Given the description of an element on the screen output the (x, y) to click on. 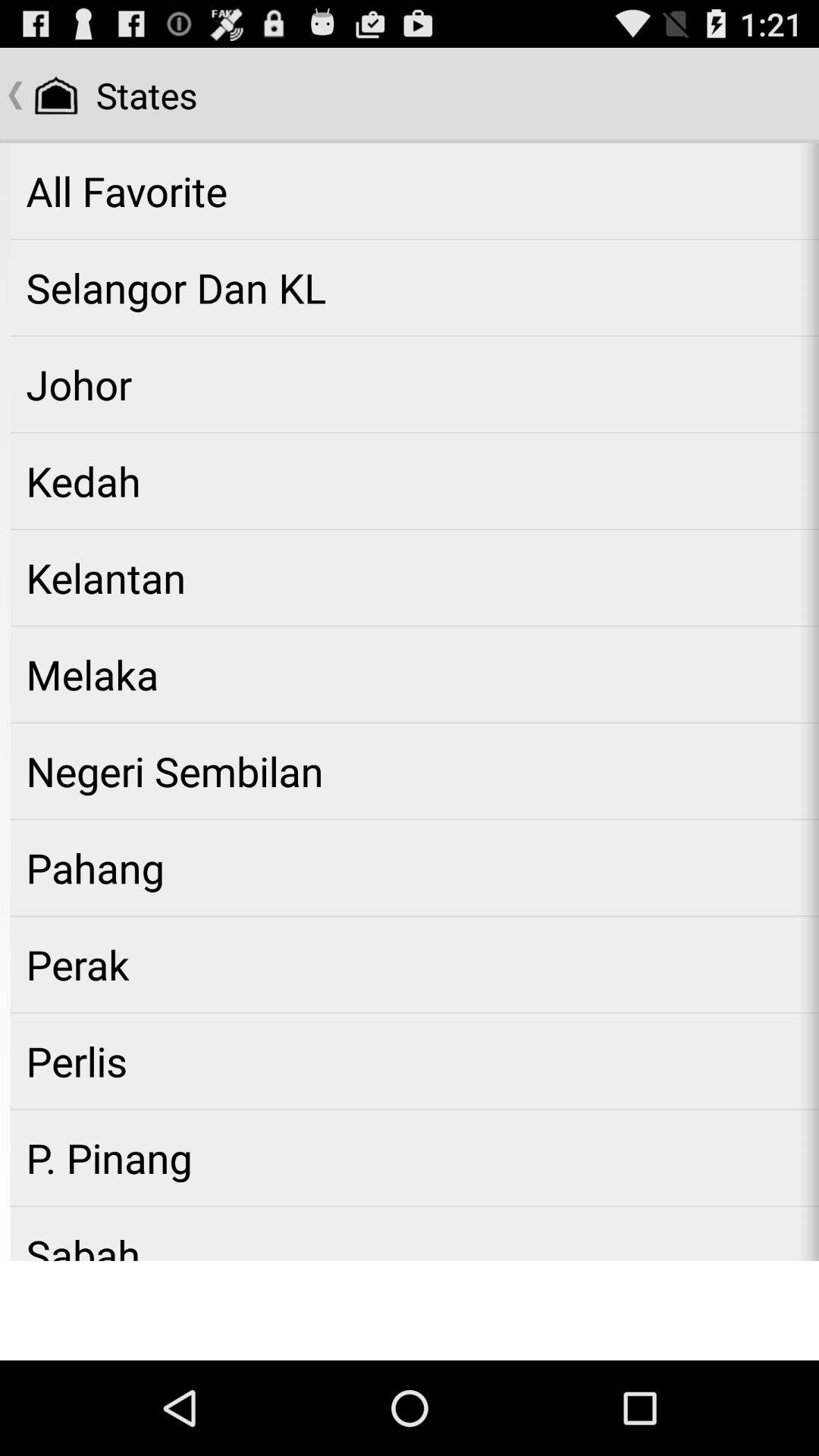
swipe to kelantan (414, 577)
